Given the description of an element on the screen output the (x, y) to click on. 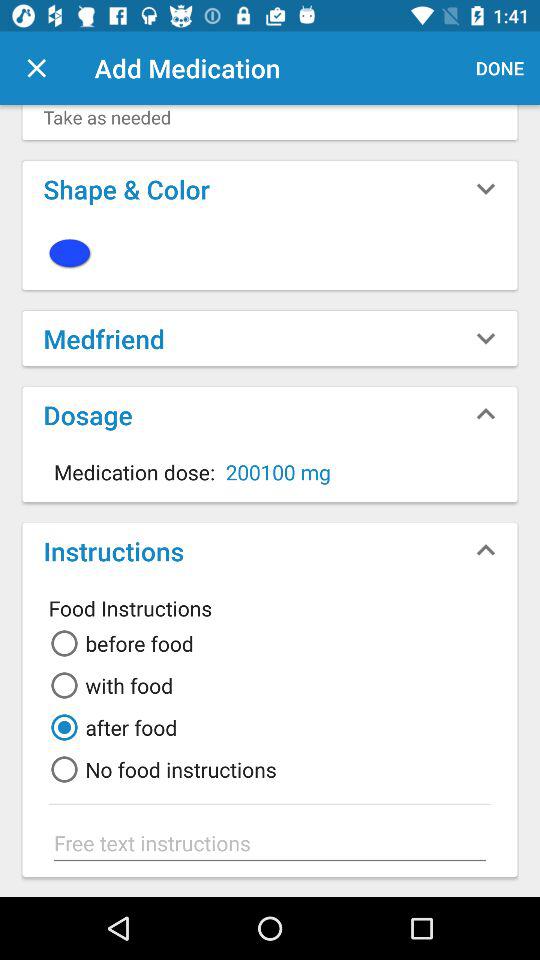
jump to the before food (118, 643)
